Given the description of an element on the screen output the (x, y) to click on. 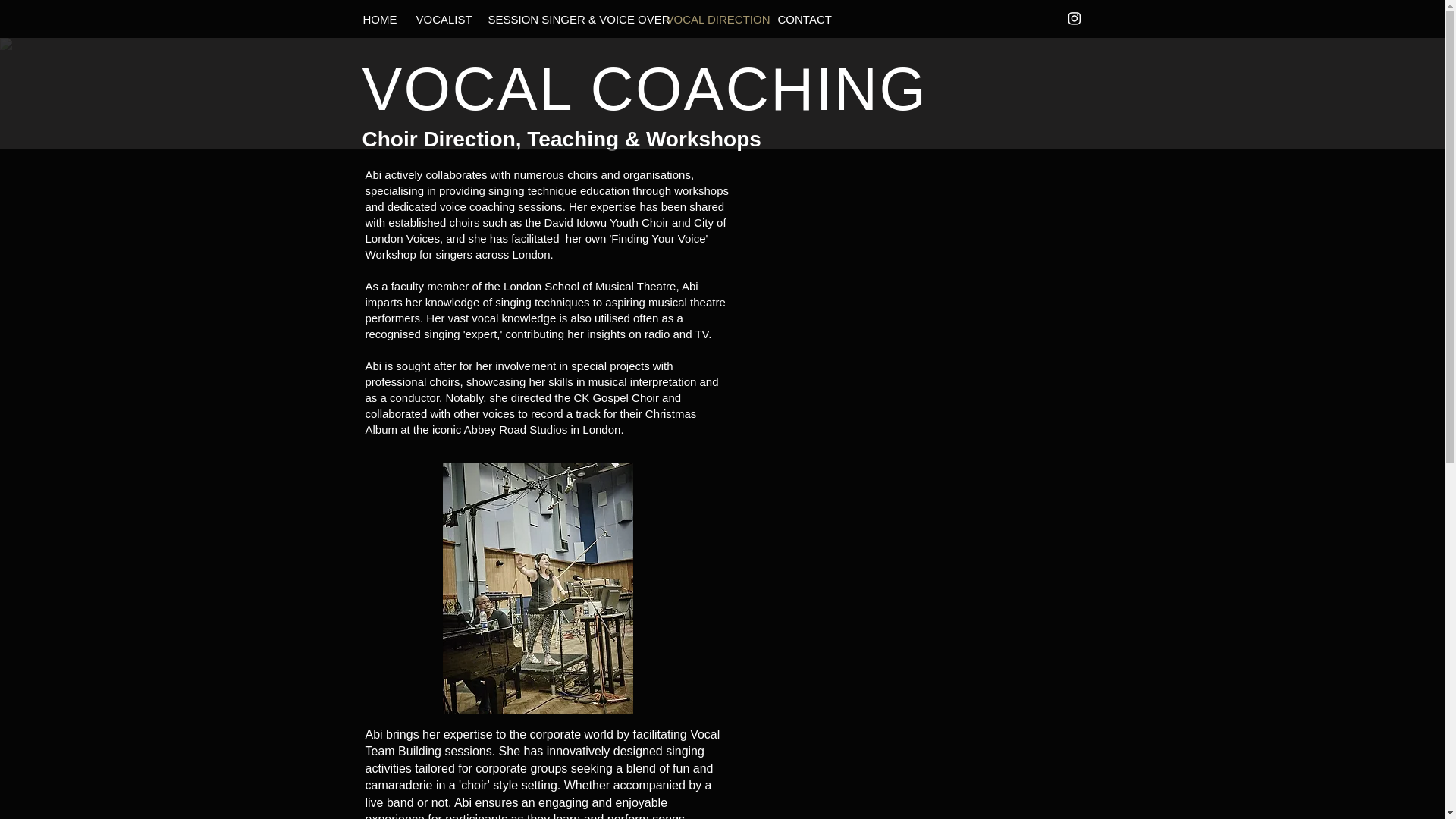
VOCALIST (439, 19)
HOME (376, 19)
VOCAL DIRECTION (709, 19)
CONTACT (799, 19)
